Given the description of an element on the screen output the (x, y) to click on. 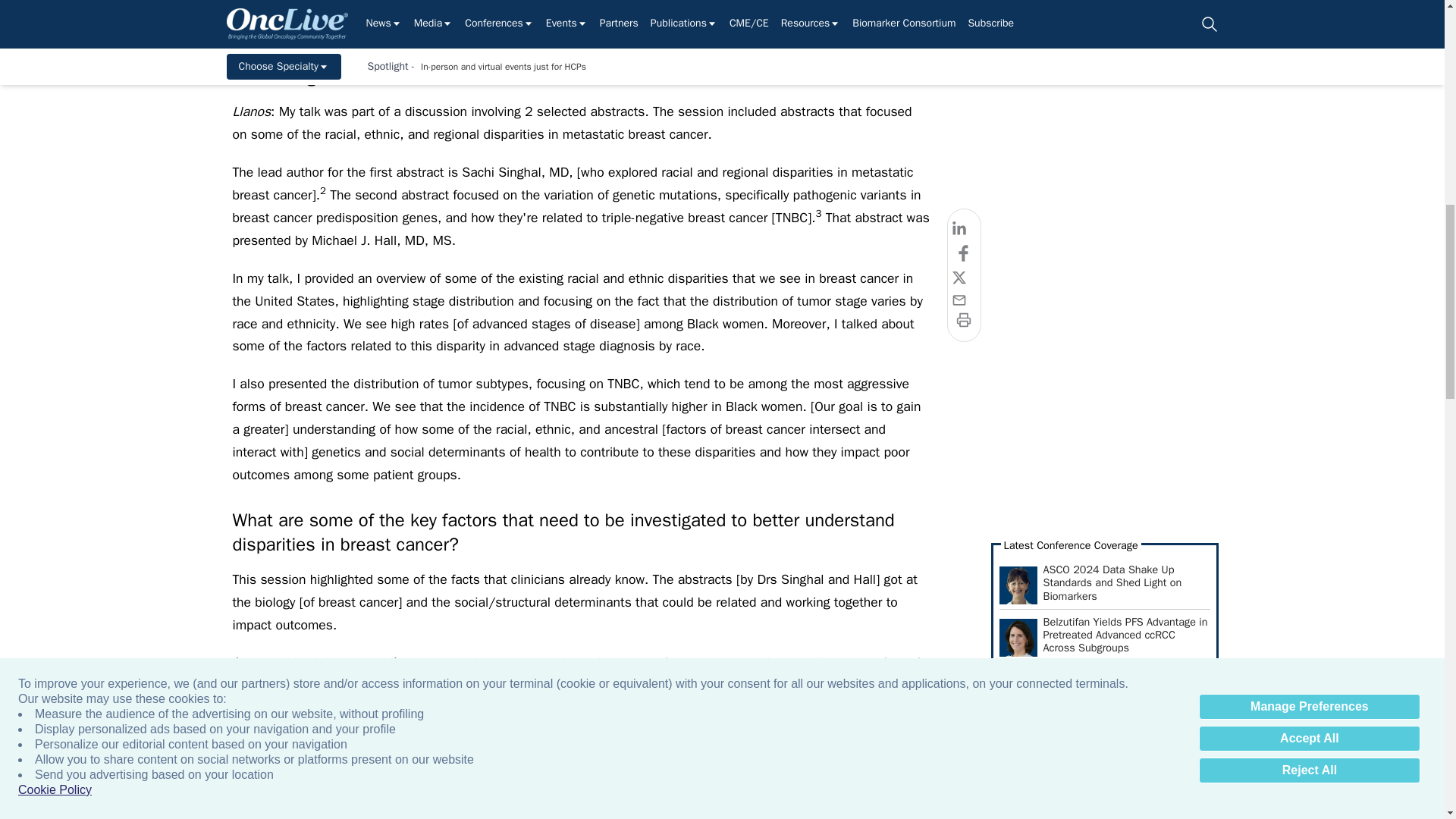
Michal Taszner, MD (1023, 374)
3rd party ad content (1103, 224)
